Given the description of an element on the screen output the (x, y) to click on. 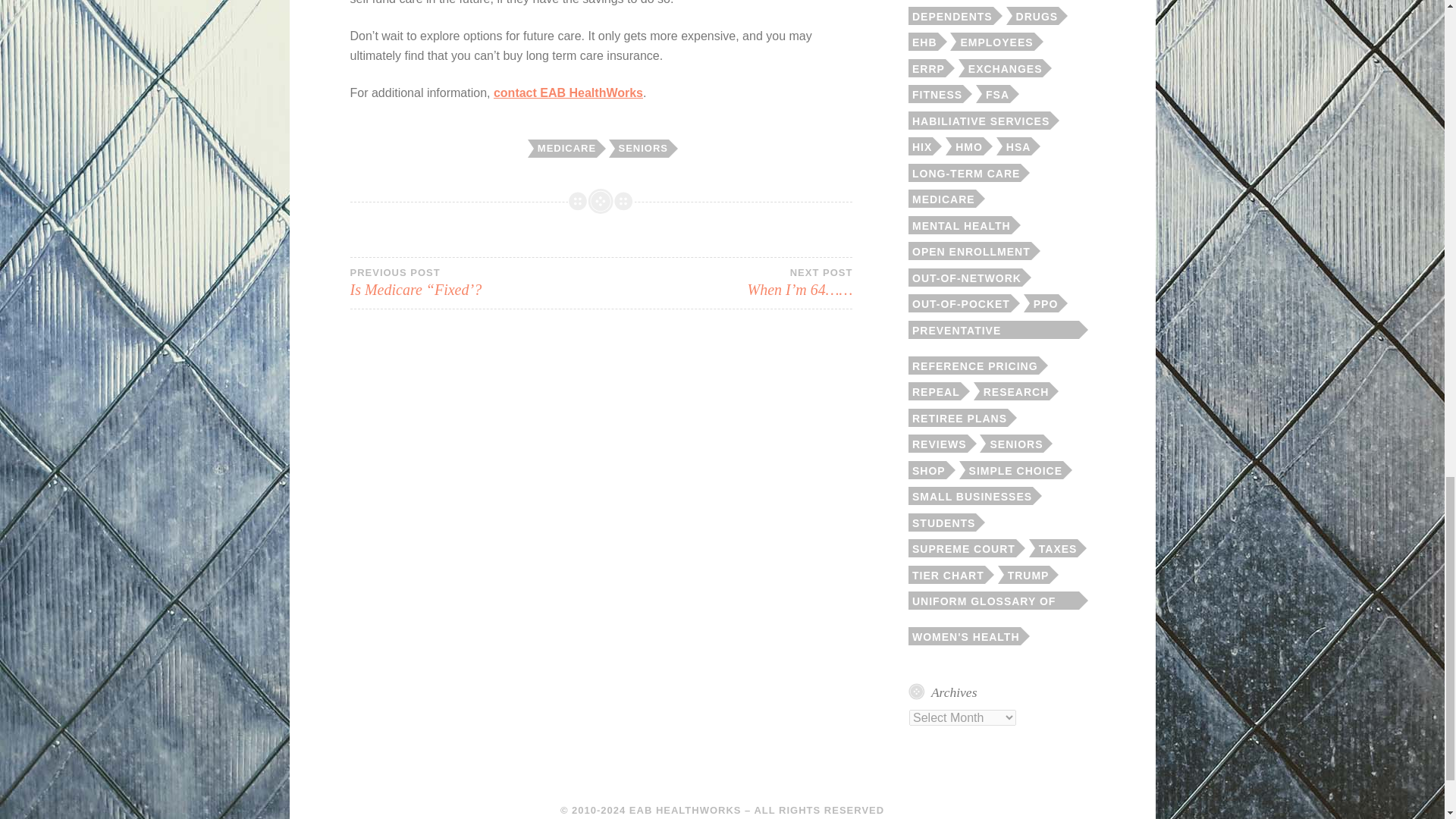
MEDICARE (565, 148)
DEPENDENTS (950, 15)
SENIORS (641, 148)
contact EAB HealthWorks (568, 92)
